Given the description of an element on the screen output the (x, y) to click on. 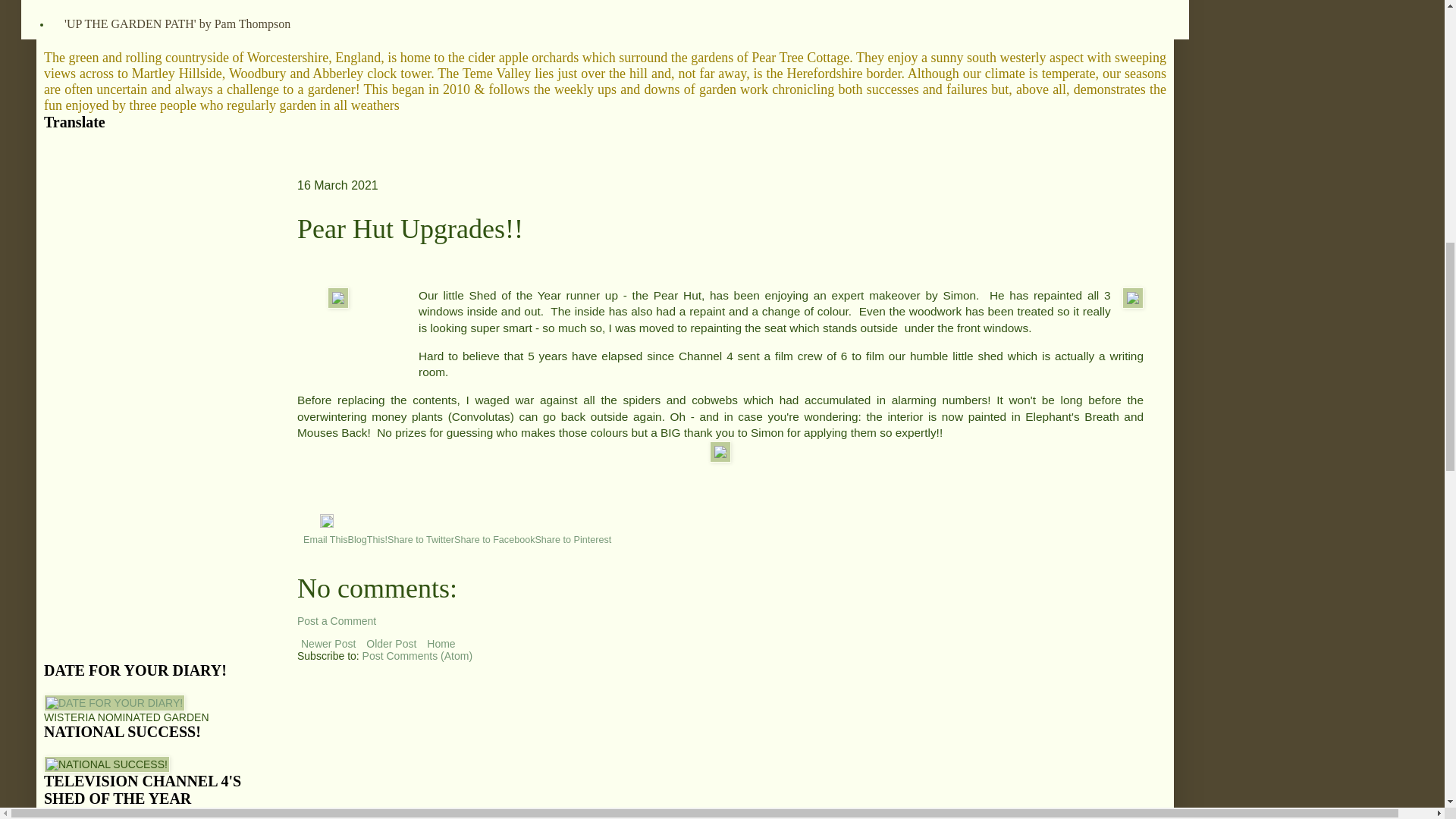
Home (440, 643)
Share to Facebook (494, 539)
Share to Pinterest (572, 539)
Email This (324, 539)
Older Post (391, 643)
Share to Twitter (420, 539)
Post a Comment (336, 621)
Share to Facebook (494, 539)
Edit Post (326, 523)
Newer Post (328, 643)
Share to Pinterest (572, 539)
THE WORLD'S MOST RECYCLED GARDEN! (184, 4)
Newer Post (328, 643)
Email Post (311, 523)
'UP THE GARDEN PATH' by Pam Thompson (176, 23)
